Given the description of an element on the screen output the (x, y) to click on. 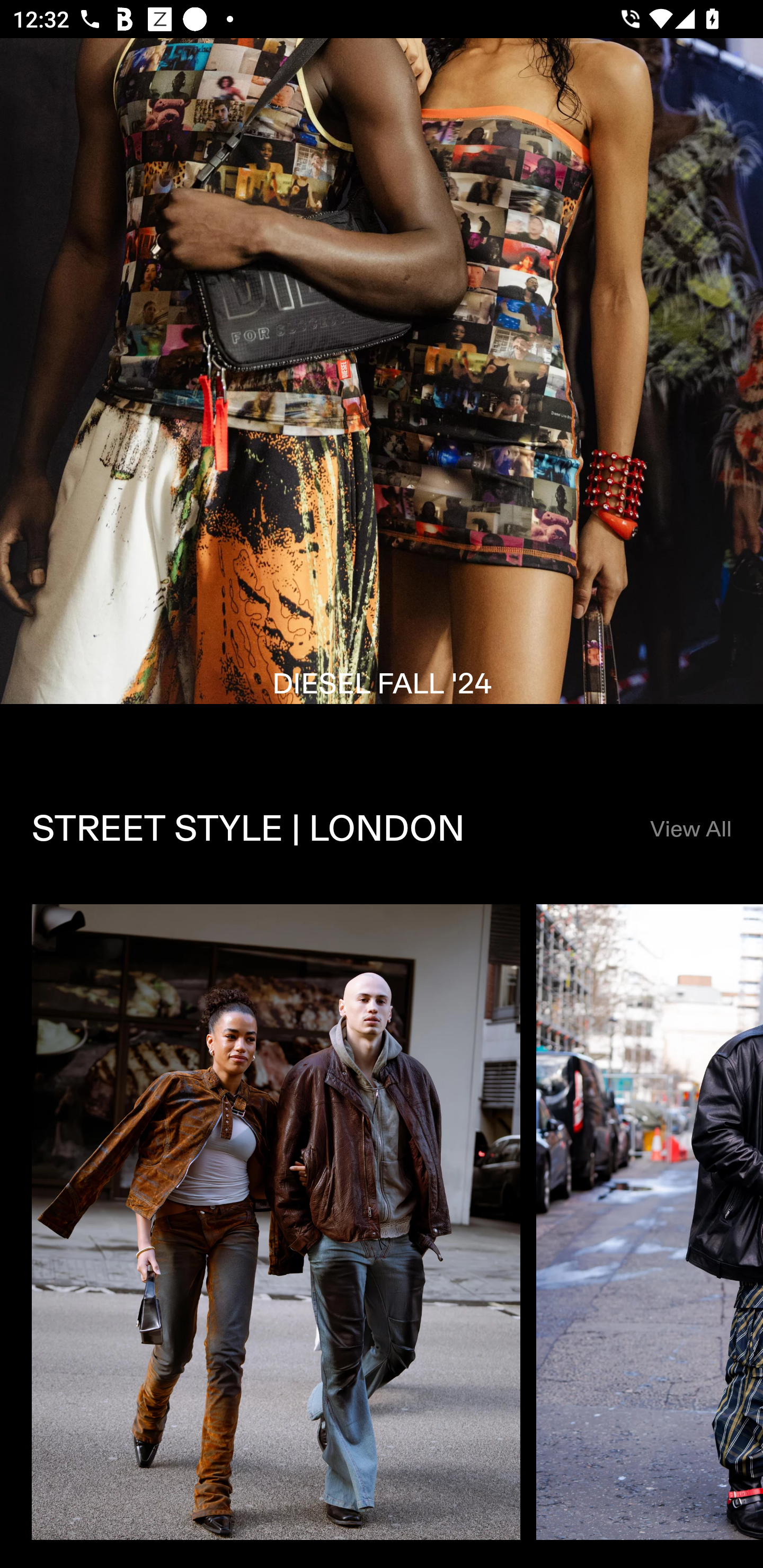
FIRST LOOKS DIESEL FALL '24 (381, 395)
View All (690, 830)
